Given the description of an element on the screen output the (x, y) to click on. 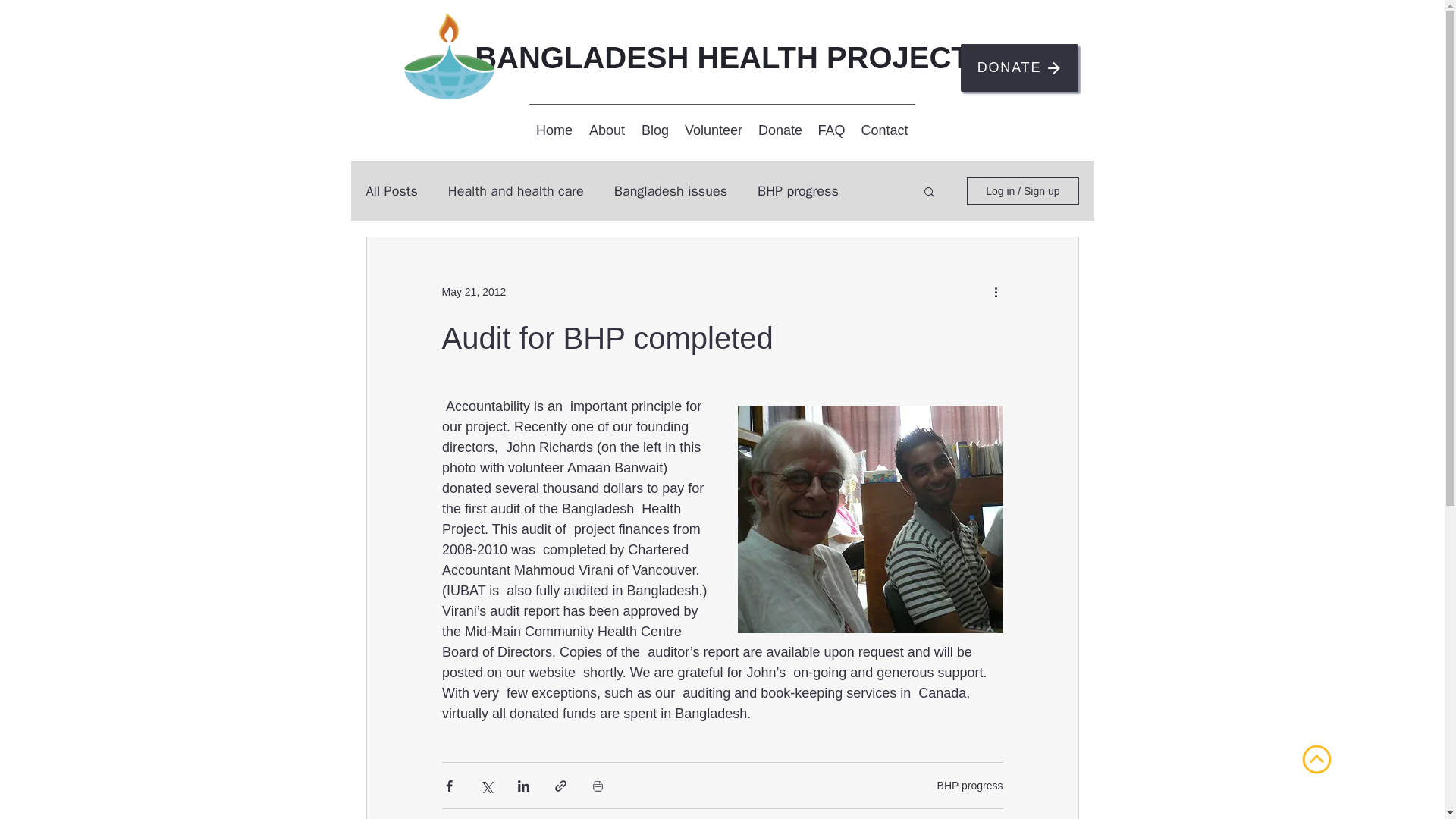
Blog (655, 129)
BHP progress (797, 190)
BHP progress (970, 785)
Donate (780, 129)
May 21, 2012 (473, 291)
Volunteer (713, 129)
Health and health care (515, 190)
Contact (883, 129)
Bangladesh issues (670, 190)
FAQ (830, 129)
DONATE (1018, 67)
All Posts (390, 190)
Home (553, 129)
About (606, 129)
